Given the description of an element on the screen output the (x, y) to click on. 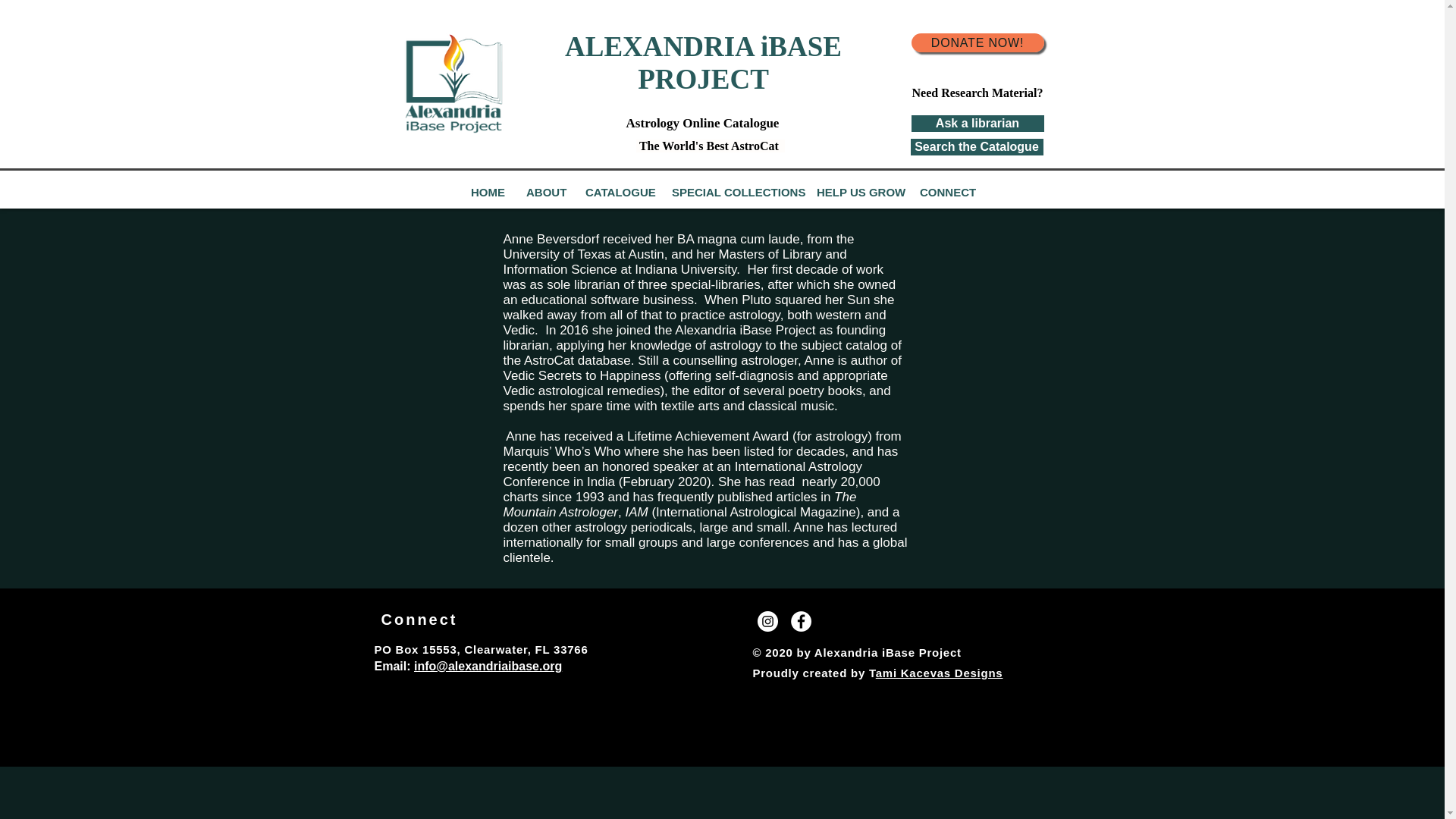
CONNECT (946, 192)
HOME (487, 192)
HELP US GROW (856, 192)
SPECIAL COLLECTIONS (733, 192)
Ask a librarian (977, 123)
ami Kacevas Designs (939, 672)
CATALOGUE (617, 192)
ABOUT (544, 192)
Search the Catalogue (976, 146)
DONATE NOW! (977, 42)
